Given the description of an element on the screen output the (x, y) to click on. 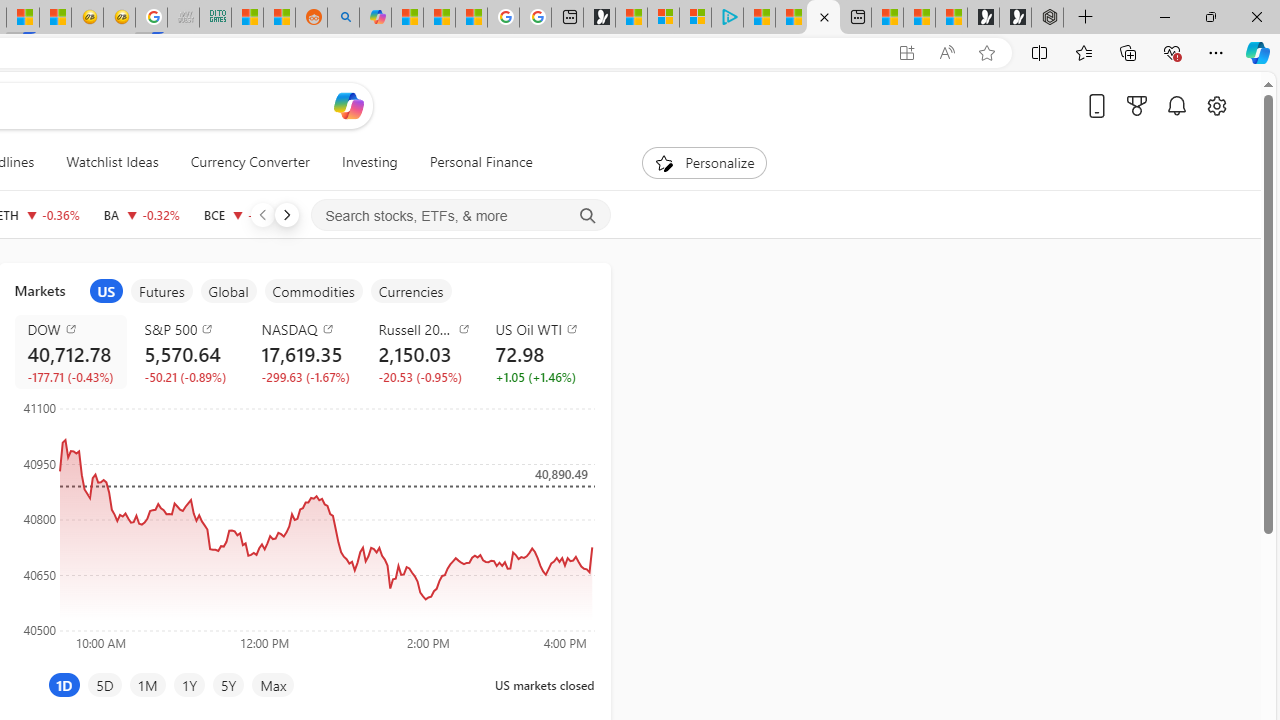
Max (273, 684)
DOW DJI decrease 40,712.78 -177.71 -0.43% (70, 351)
Open settings (1216, 105)
Watchlist Ideas (112, 162)
Personalize (703, 162)
Microsoft Copilot in Bing (374, 17)
BCE BCE Inc decrease 34.55 -0.08 -0.22% (244, 214)
S&P 500 (190, 328)
